Given the description of an element on the screen output the (x, y) to click on. 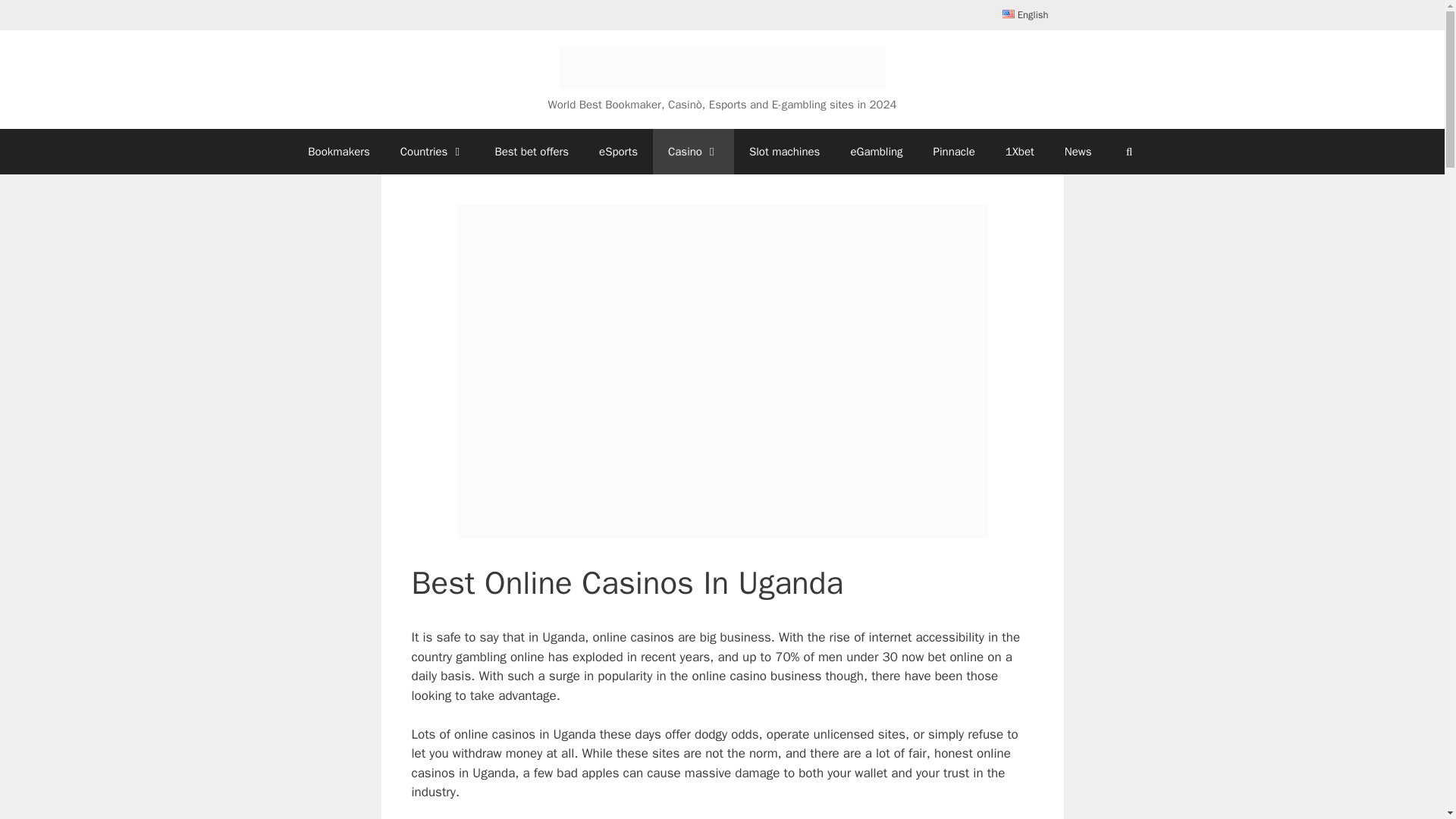
eSports (617, 151)
Best bet offers (531, 151)
Countries (432, 151)
Casino (692, 151)
English (1025, 15)
Bookmakers (338, 151)
